Given the description of an element on the screen output the (x, y) to click on. 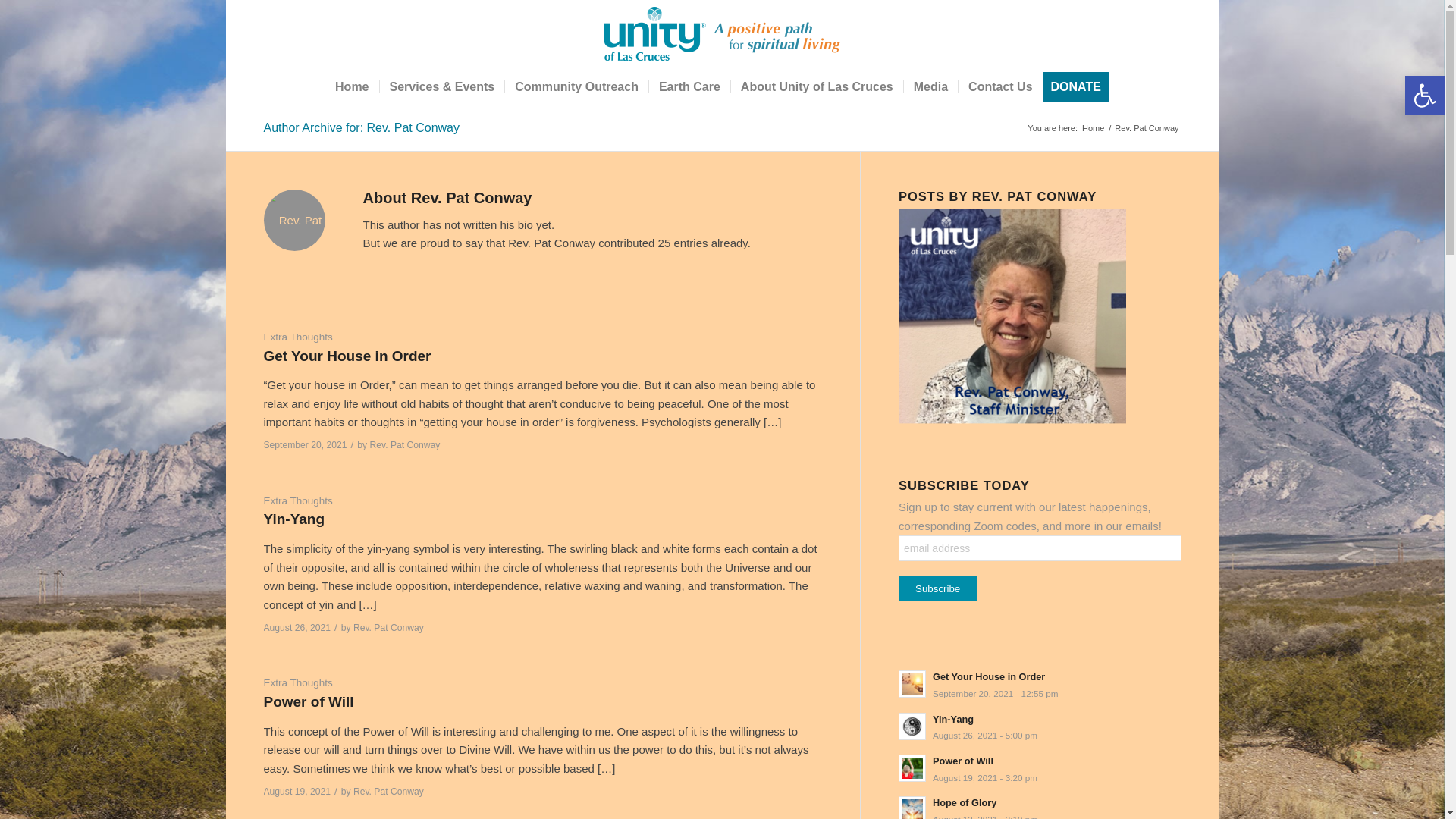
Rev. Pat Conway (388, 627)
Extra Thoughts (298, 337)
Subscribe (937, 588)
Extra Thoughts (298, 682)
unity-las-cruces-website-logo (721, 33)
Posts by Rev. Pat Conway (405, 444)
Posts by Rev. Pat Conway (388, 627)
Rev. Pat Conway (405, 444)
Permanent Link: Get Your House in Order (346, 355)
Media (930, 86)
Permanent Link: Power of Will (308, 701)
Community Outreach (575, 86)
Home (351, 86)
Get Your House in Order (346, 355)
Posts by Rev. Pat Conway (388, 791)
